Given the description of an element on the screen output the (x, y) to click on. 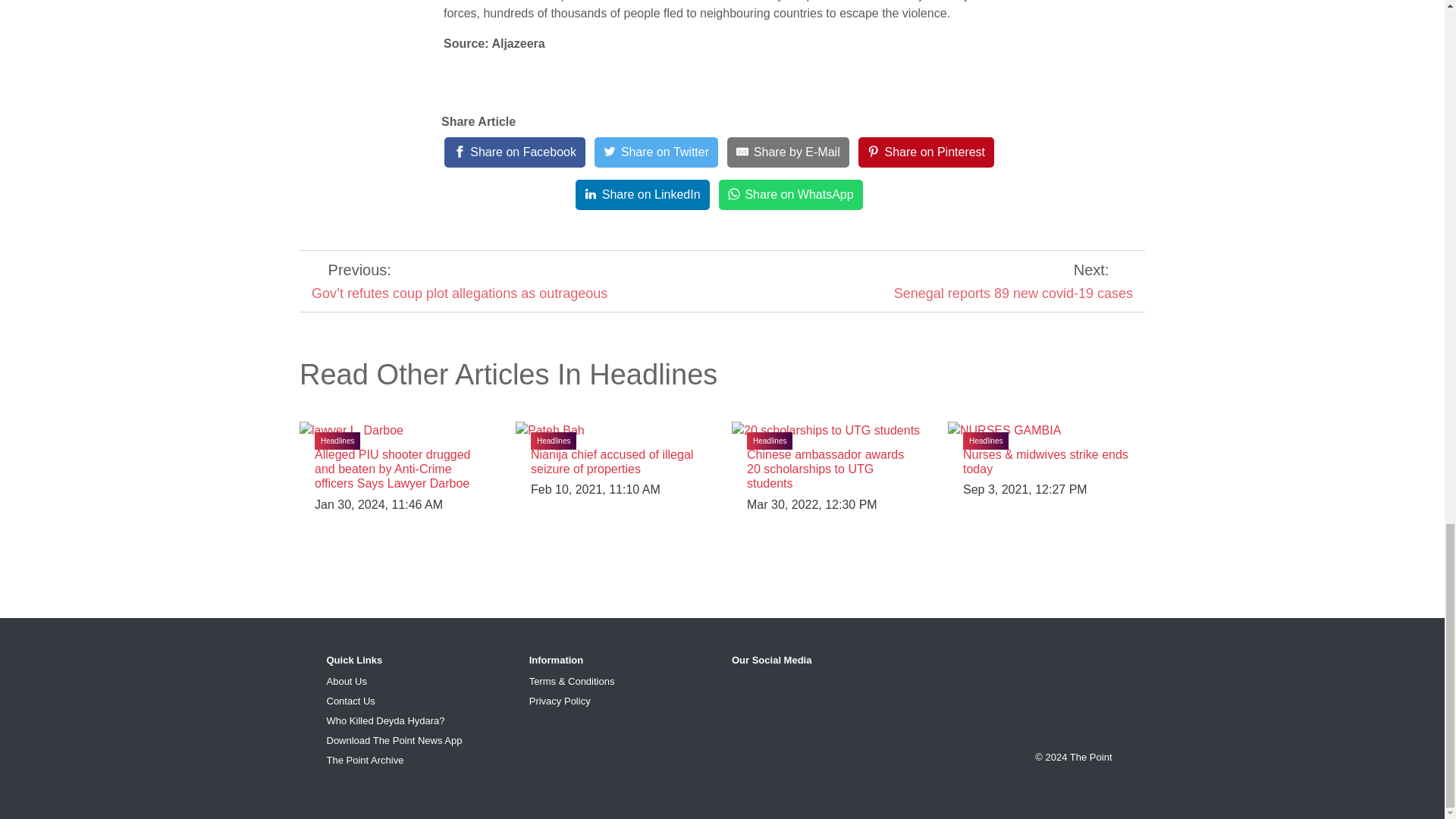
Go to Senegal reports 89 new covid-19 cases (1012, 293)
Senegal reports 89 new covid-19 cases (1012, 293)
Share on LinkedIn (642, 194)
Share on WhatsApp (791, 194)
Headlines (553, 440)
Share on Pinterest (926, 152)
Chinese ambassador awards 20 scholarships to UTG students (825, 468)
Share on Facebook (514, 152)
Headlines (769, 440)
